Given the description of an element on the screen output the (x, y) to click on. 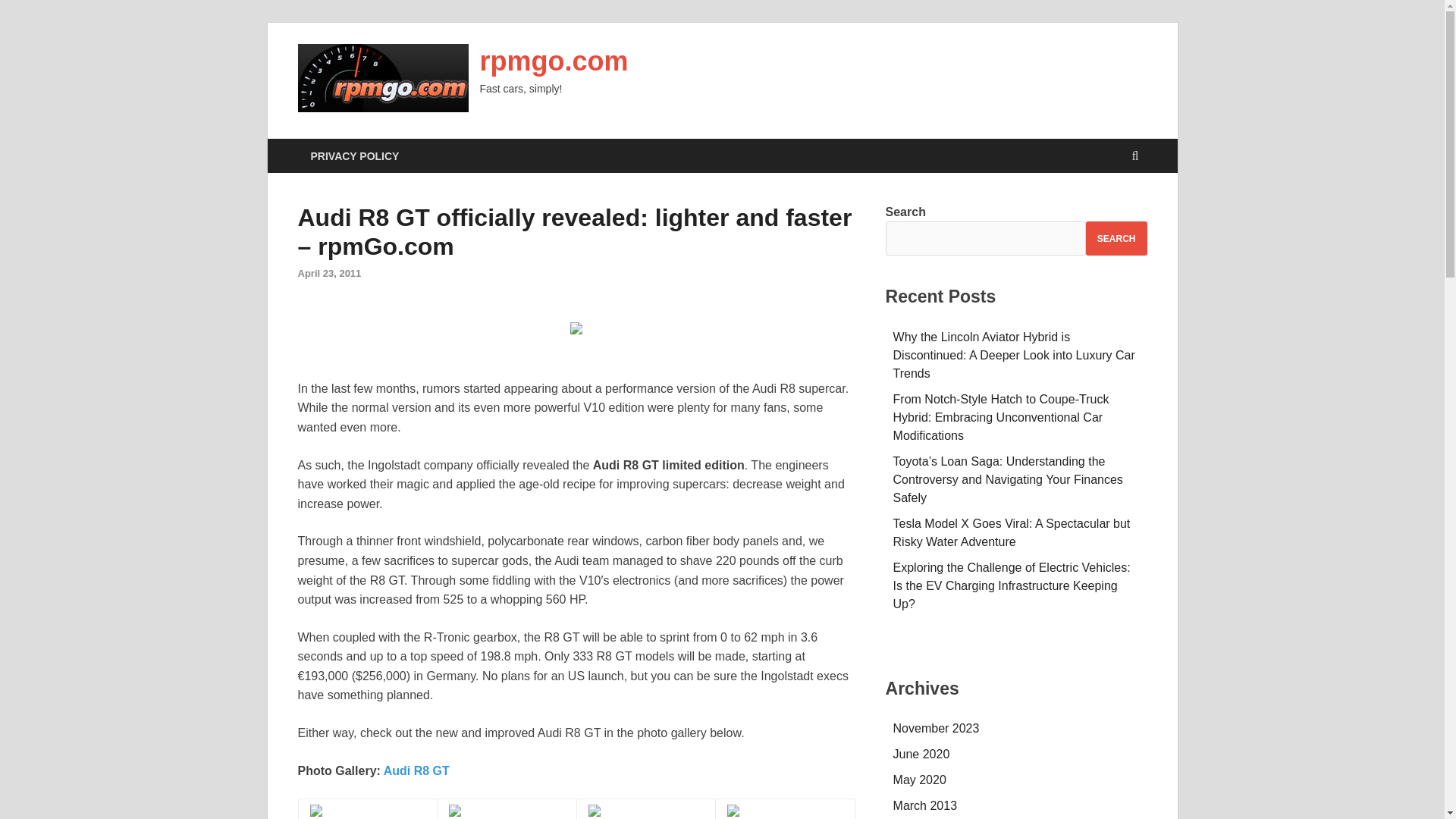
Audi R8 GT (416, 770)
November 2023 (936, 727)
PRIVACY POLICY (354, 155)
June 2020 (921, 753)
April 23, 2011 (329, 273)
SEARCH (1116, 238)
rpmgo.com (553, 60)
